Given the description of an element on the screen output the (x, y) to click on. 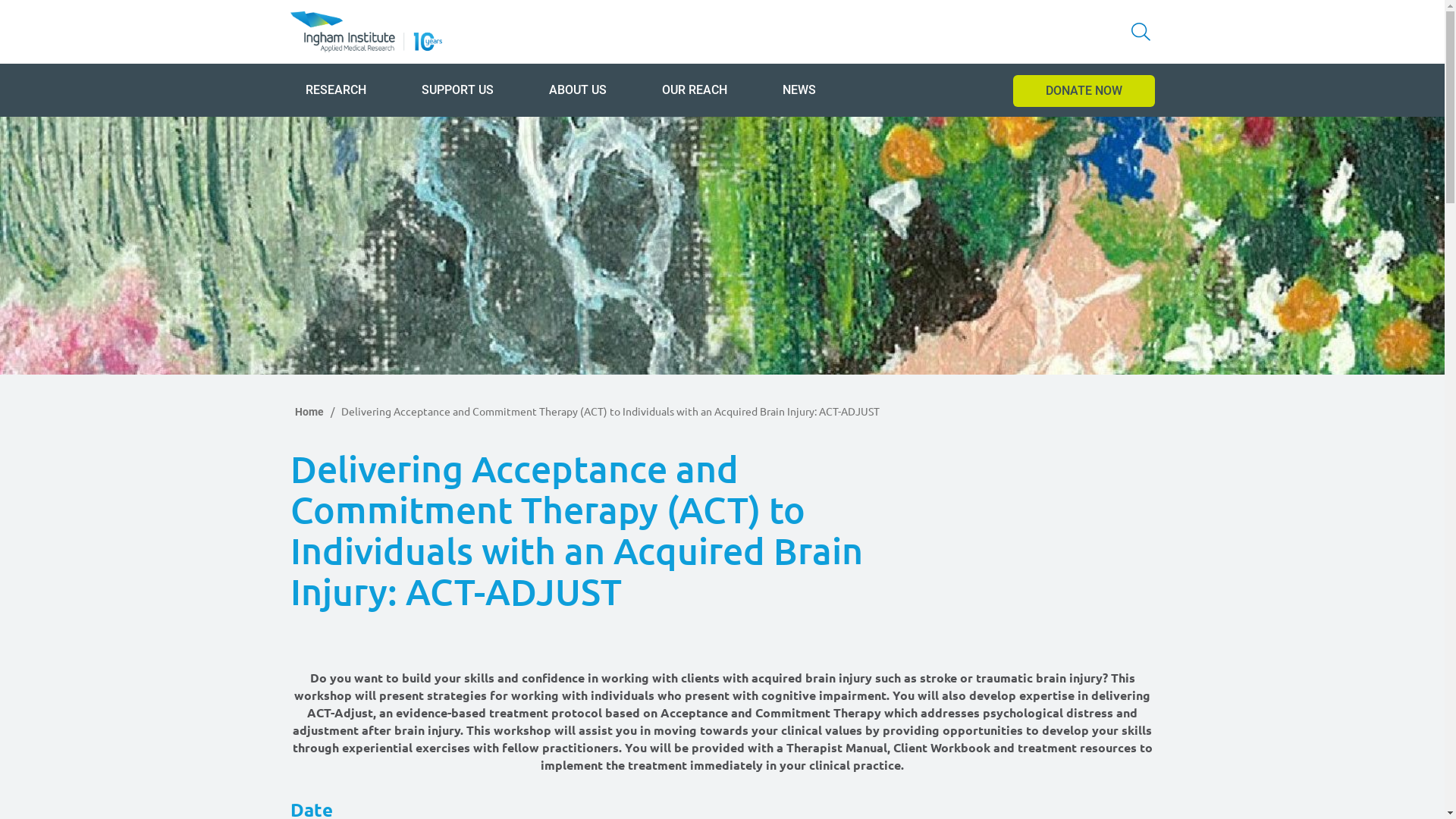
NEWS Element type: text (799, 89)
SUPPORT US Element type: text (457, 89)
ABOUT US Element type: text (577, 89)
Home Element type: text (309, 411)
DONATE NOW Element type: text (1083, 90)
RESEARCH Element type: text (334, 89)
OUR REACH Element type: text (693, 89)
Ingham Institute Element type: text (365, 31)
